Given the description of an element on the screen output the (x, y) to click on. 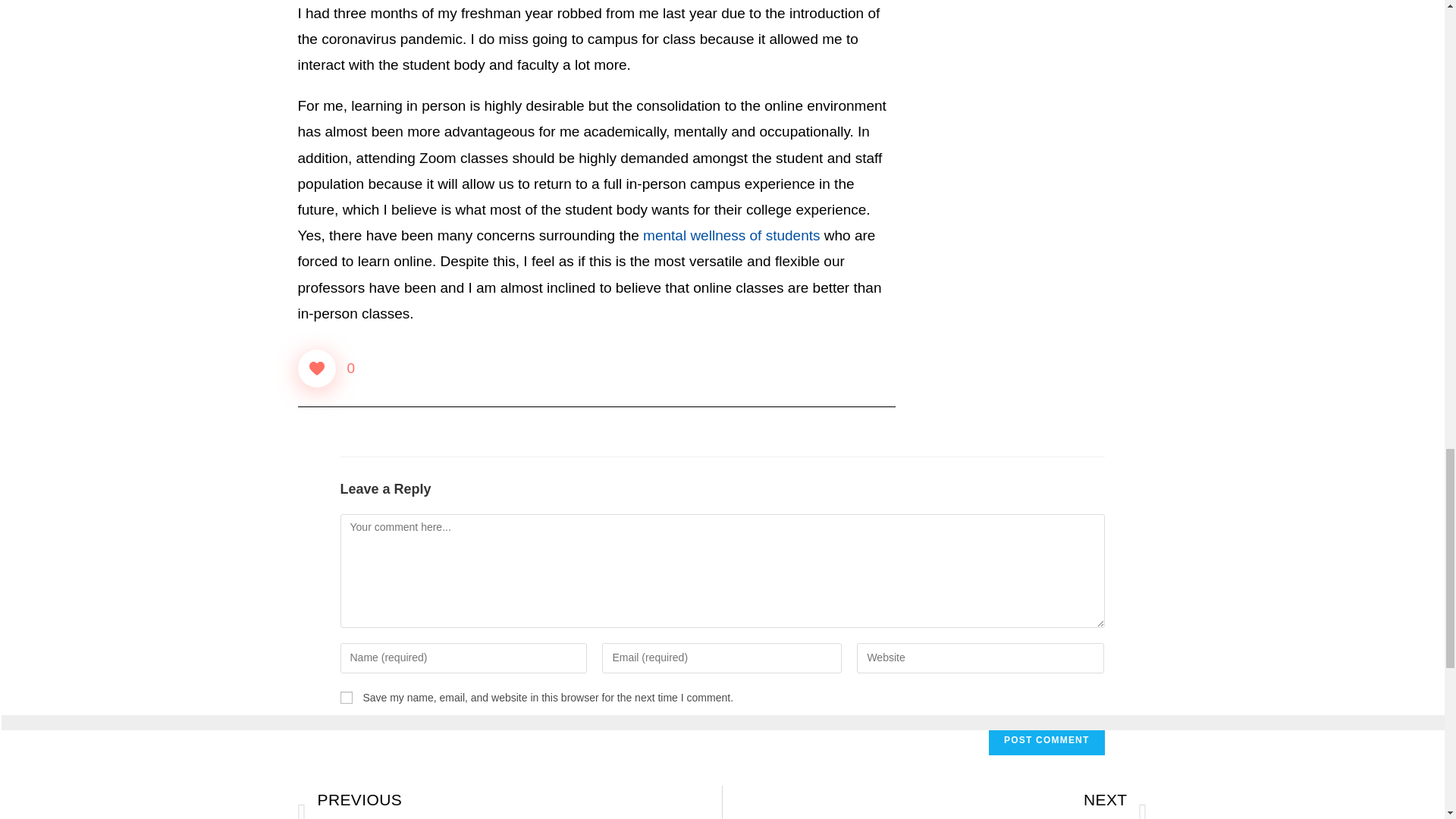
Post Comment (1045, 739)
yes (345, 697)
